Given the description of an element on the screen output the (x, y) to click on. 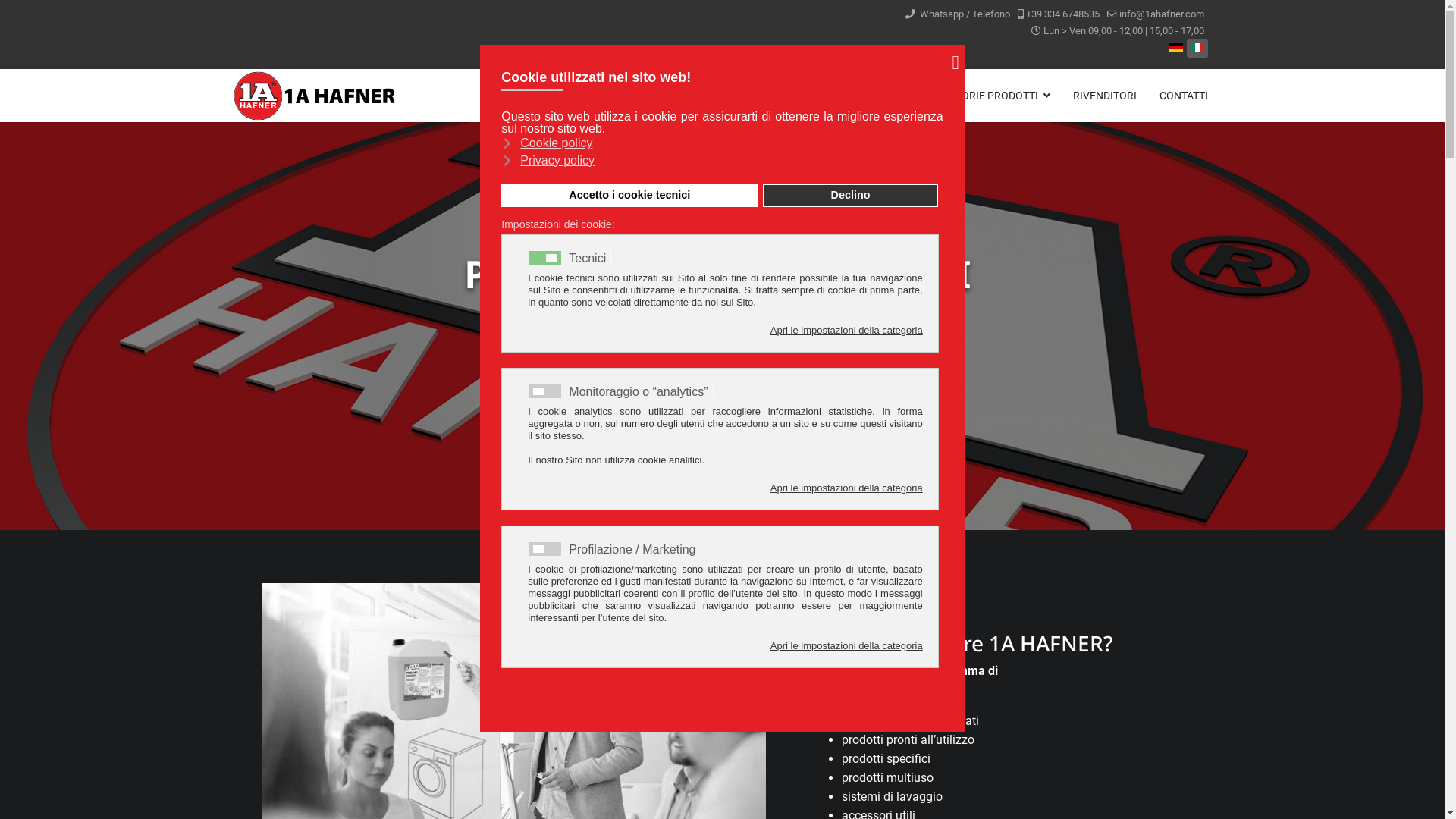
info@1ahafner.com Element type: text (1161, 13)
AZIENDA Element type: text (871, 95)
+39 334 6748535 Element type: text (1061, 13)
RIVENDITORI Element type: text (1104, 95)
Italiano (Italia) Element type: hover (1197, 47)
 Whatsapp / Telefono Element type: text (963, 13)
Profilazione / Marketing Element type: text (633, 548)
Cookie policy Element type: text (720, 142)
Privacy policy Element type: text (720, 159)
Declino Element type: text (849, 195)
Tecnici Element type: text (589, 257)
Deutsch (Deutschland) Element type: hover (1176, 47)
Accetto i cookie tecnici Element type: text (629, 195)
Scarica la nostra brocure Element type: text (721, 382)
HOME Element type: text (811, 95)
CONTATTI Element type: text (1178, 95)
